Given the description of an element on the screen output the (x, y) to click on. 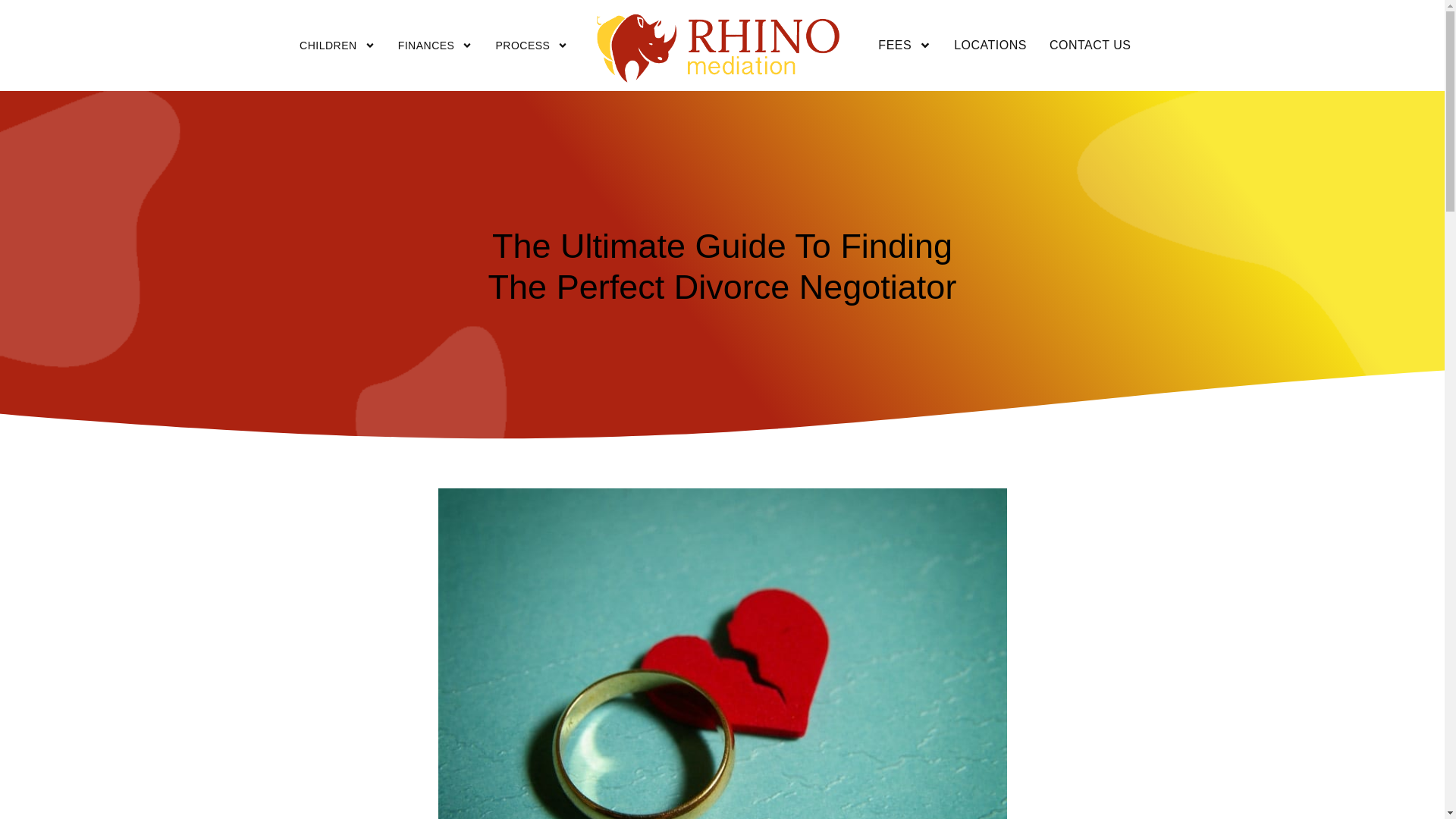
PROCESS (531, 45)
FINANCES (435, 45)
CHILDREN (337, 45)
